Given the description of an element on the screen output the (x, y) to click on. 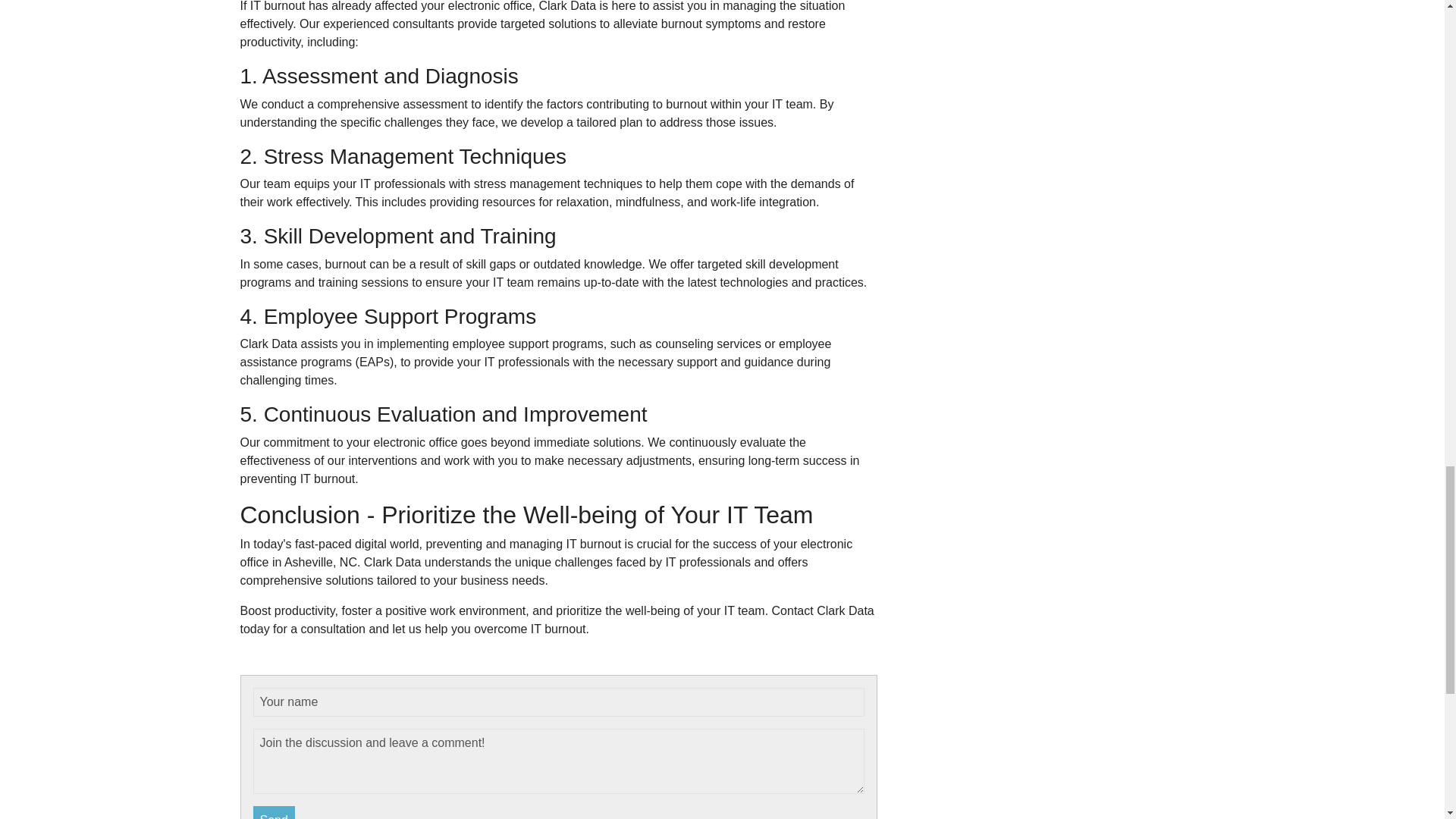
Send (274, 812)
Send (274, 812)
